Given the description of an element on the screen output the (x, y) to click on. 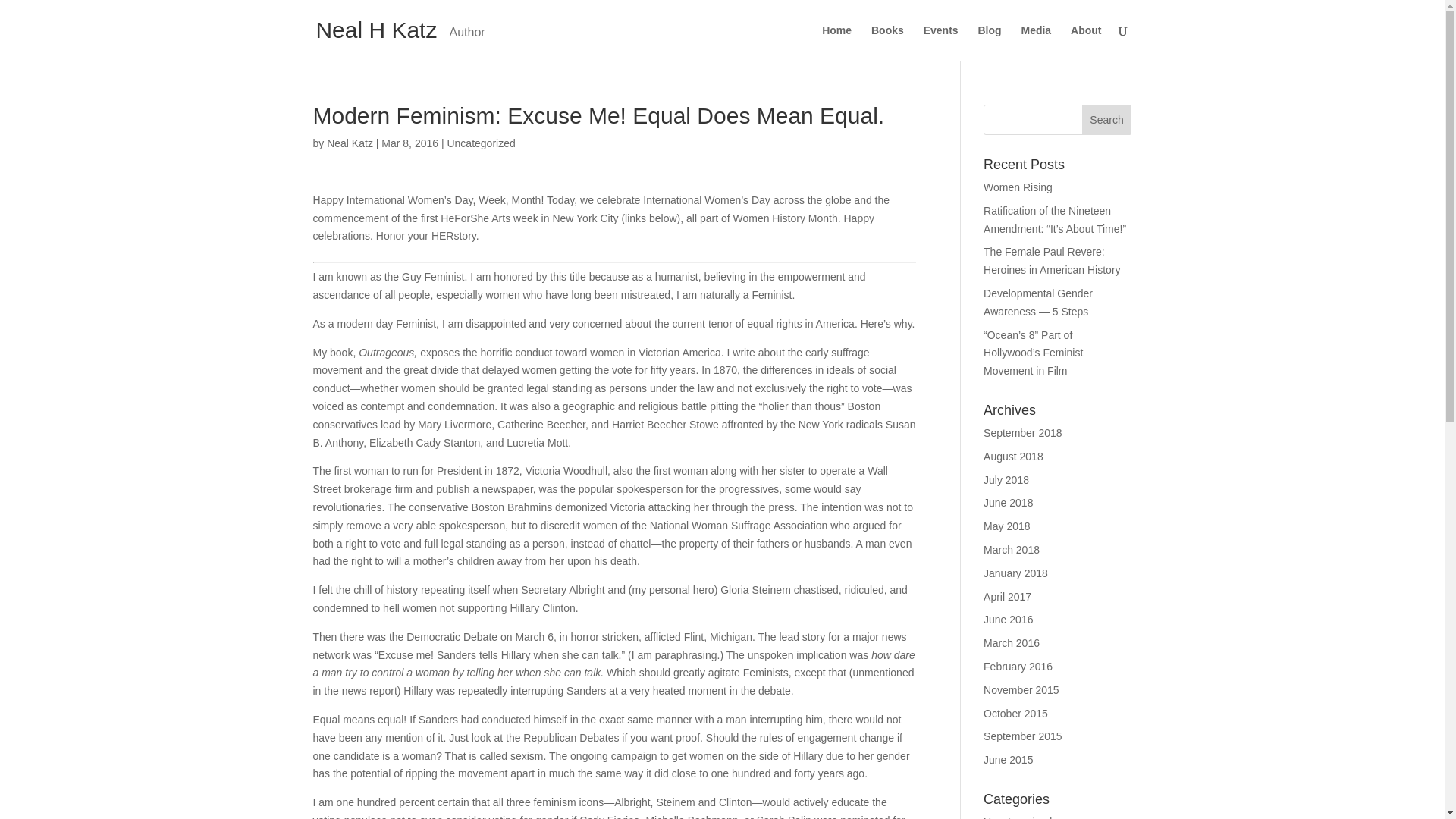
Women Rising (1018, 186)
Neal Katz (349, 143)
June 2016 (1008, 619)
September 2018 (1023, 432)
August 2018 (1013, 456)
March 2016 (1011, 643)
Posts by Neal Katz (349, 143)
The Female Paul Revere: Heroines in American History (1052, 260)
Search (1106, 119)
July 2018 (1006, 480)
